Given the description of an element on the screen output the (x, y) to click on. 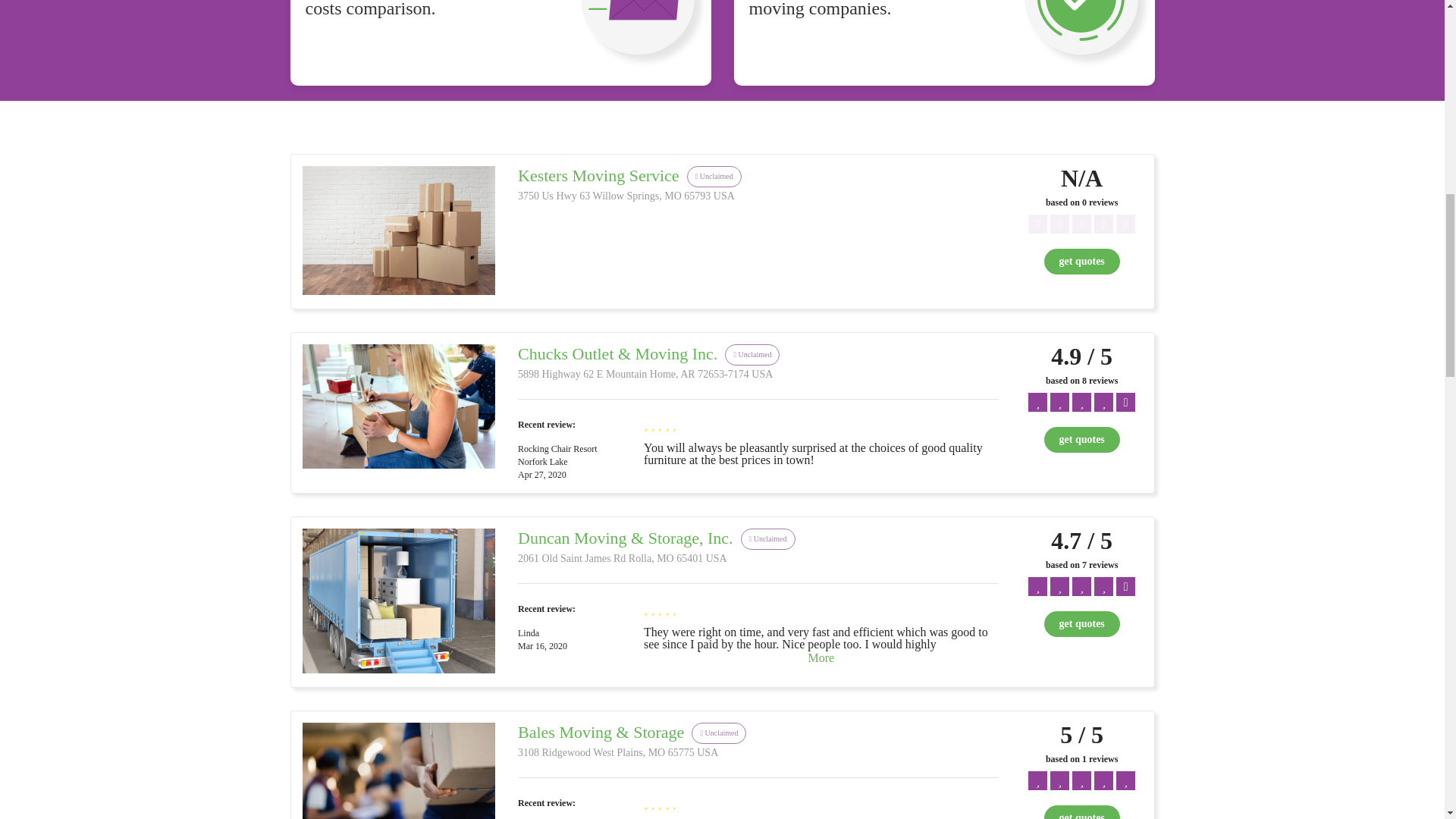
Unclaimed (714, 175)
get quotes (1081, 623)
get quotes (1081, 439)
get quotes (1081, 261)
get quotes (1081, 439)
get quotes (1081, 812)
get quotes (1081, 812)
get quotes (1081, 623)
Unclaimed (752, 354)
Unclaimed (719, 732)
